Given the description of an element on the screen output the (x, y) to click on. 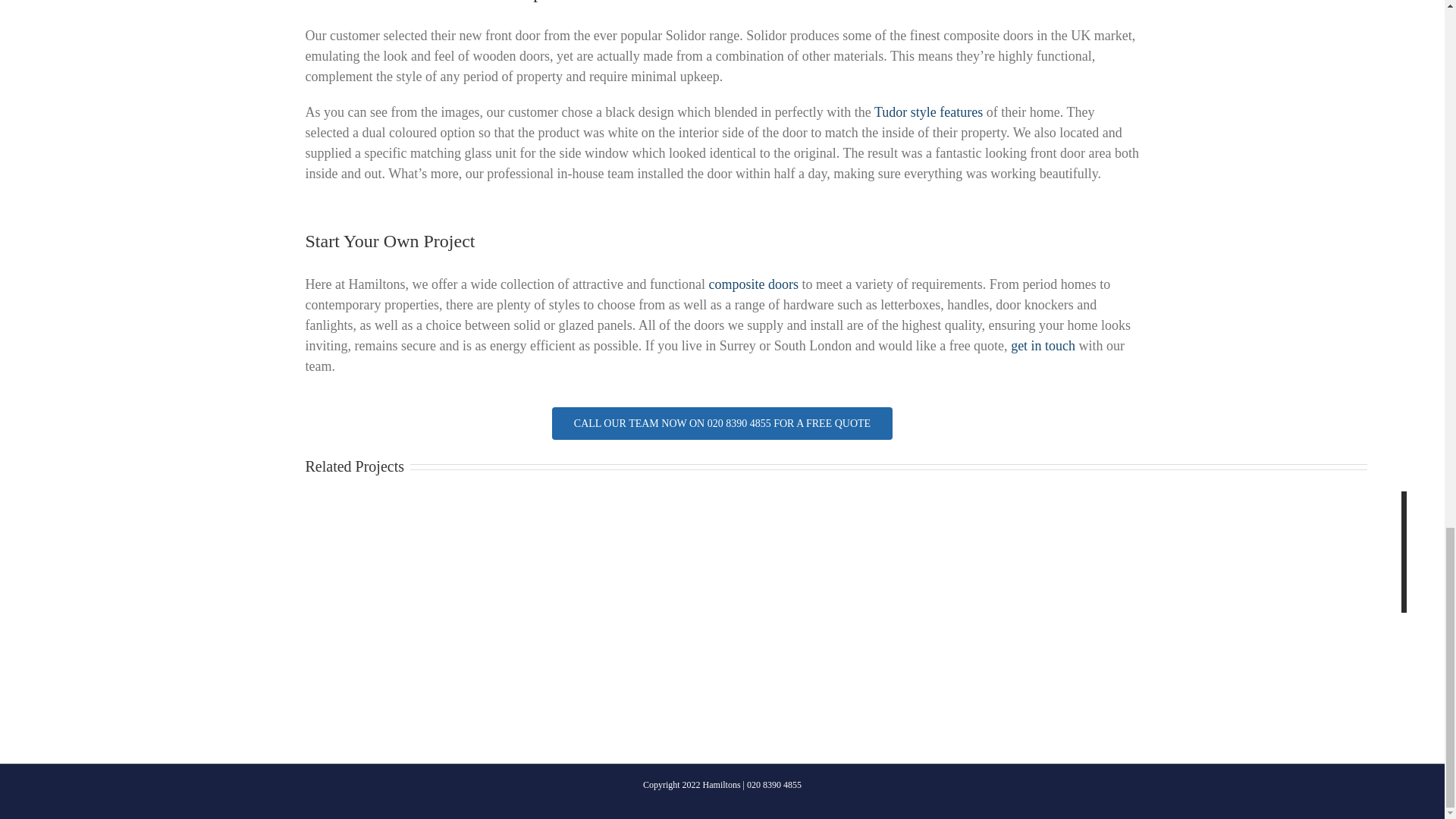
CALL OUR TEAM NOW ON 020 8390 4855 FOR A FREE QUOTE (721, 431)
composite doors (752, 283)
Tudor style features (928, 111)
